Given the description of an element on the screen output the (x, y) to click on. 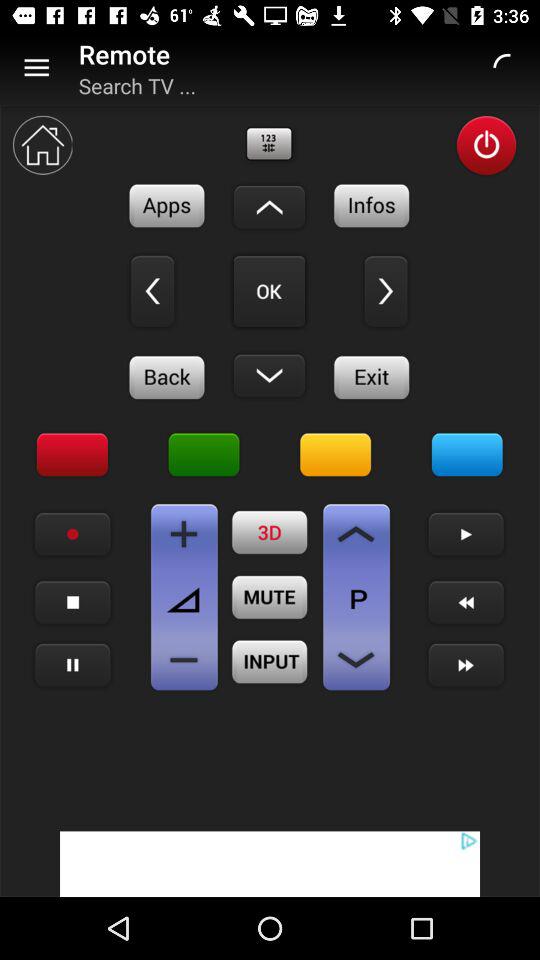
exit button (371, 377)
